Given the description of an element on the screen output the (x, y) to click on. 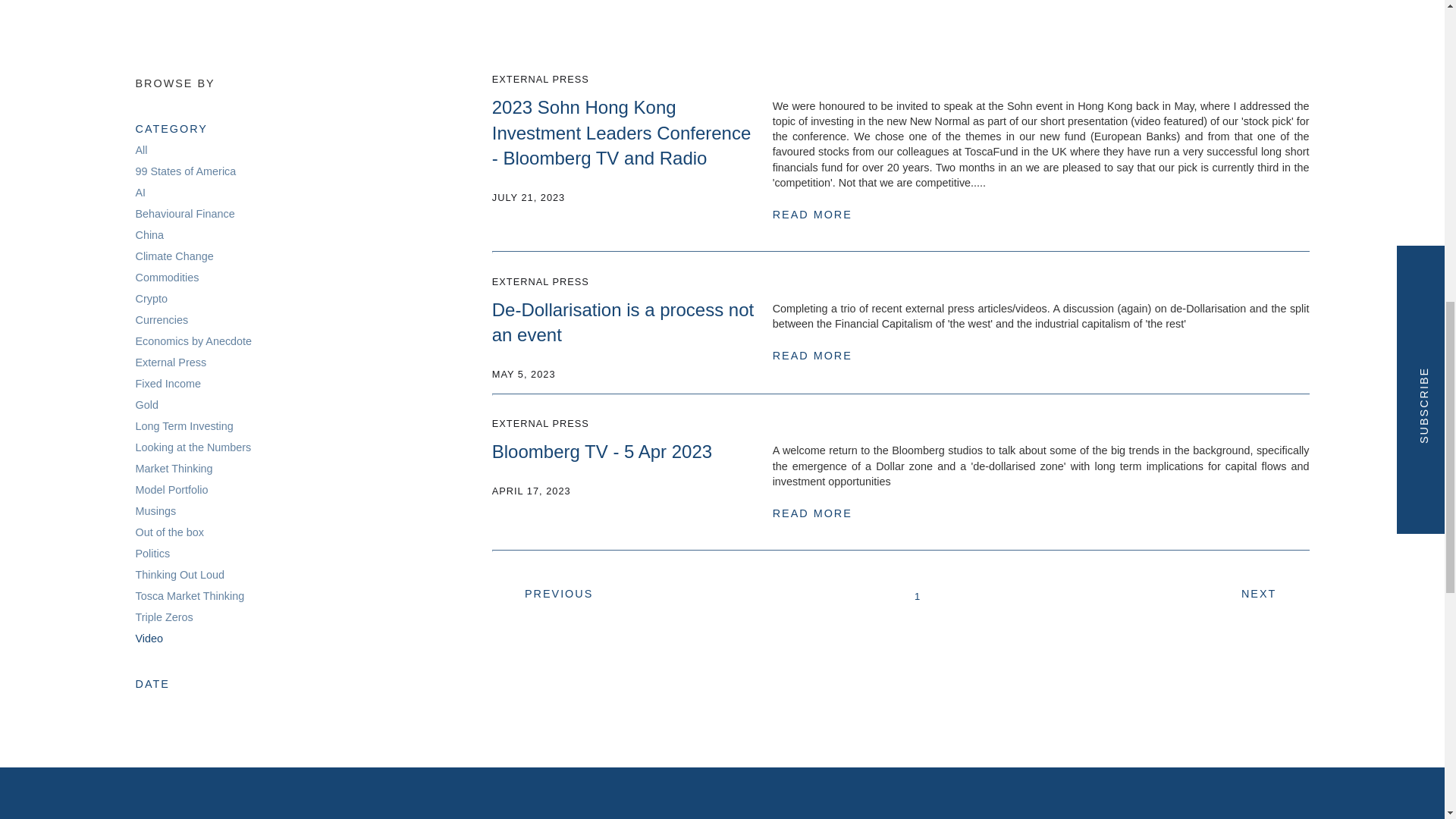
All (256, 149)
Commodities (166, 277)
Behavioural Finance (184, 213)
99 States of America (185, 170)
Climate Change (173, 255)
China (149, 234)
Crypto (151, 298)
